Given the description of an element on the screen output the (x, y) to click on. 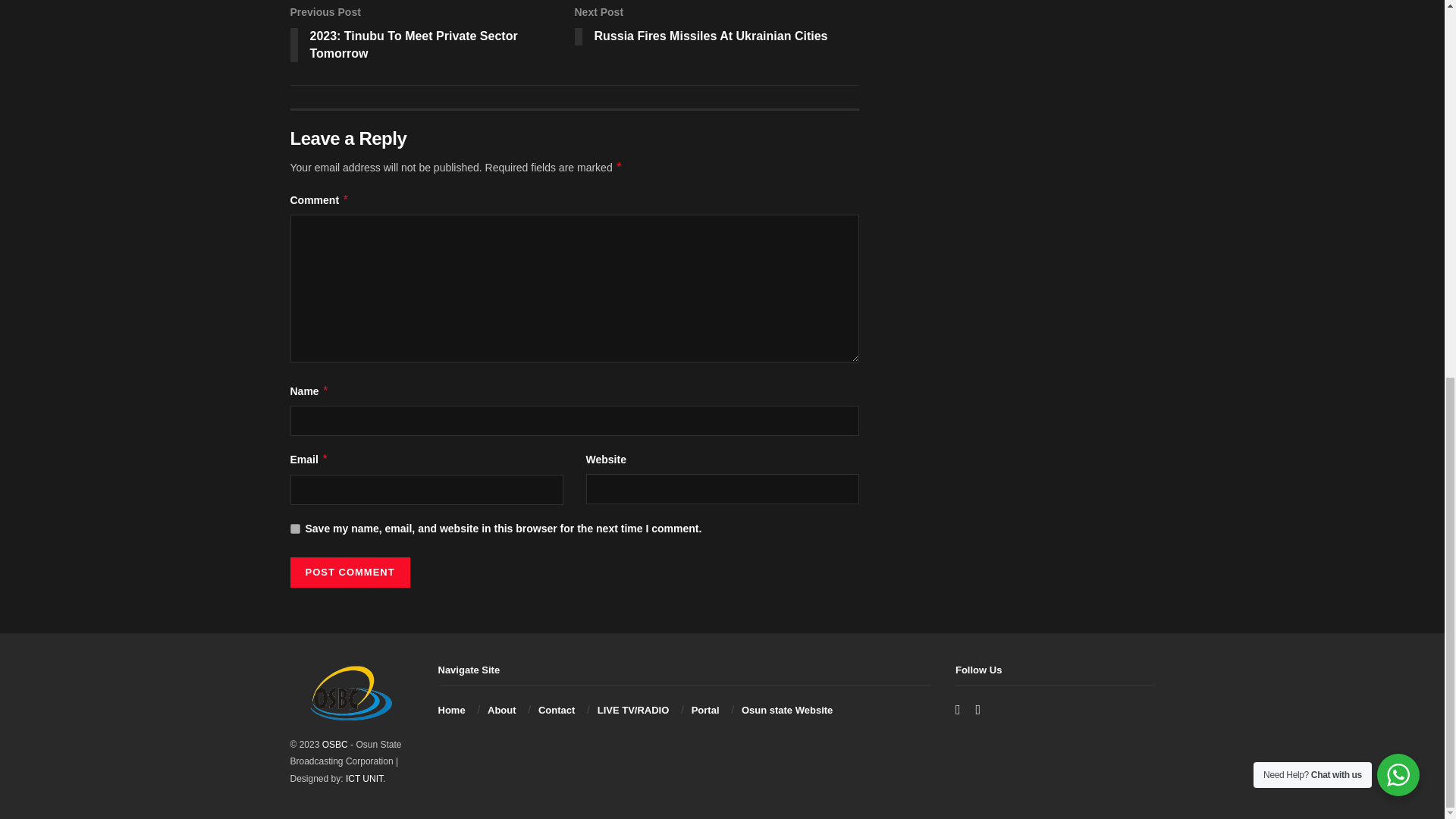
Post Comment (349, 572)
ICT UNIT (364, 778)
yes (294, 528)
Osun State Broadcasting Corporation (334, 744)
